Given the description of an element on the screen output the (x, y) to click on. 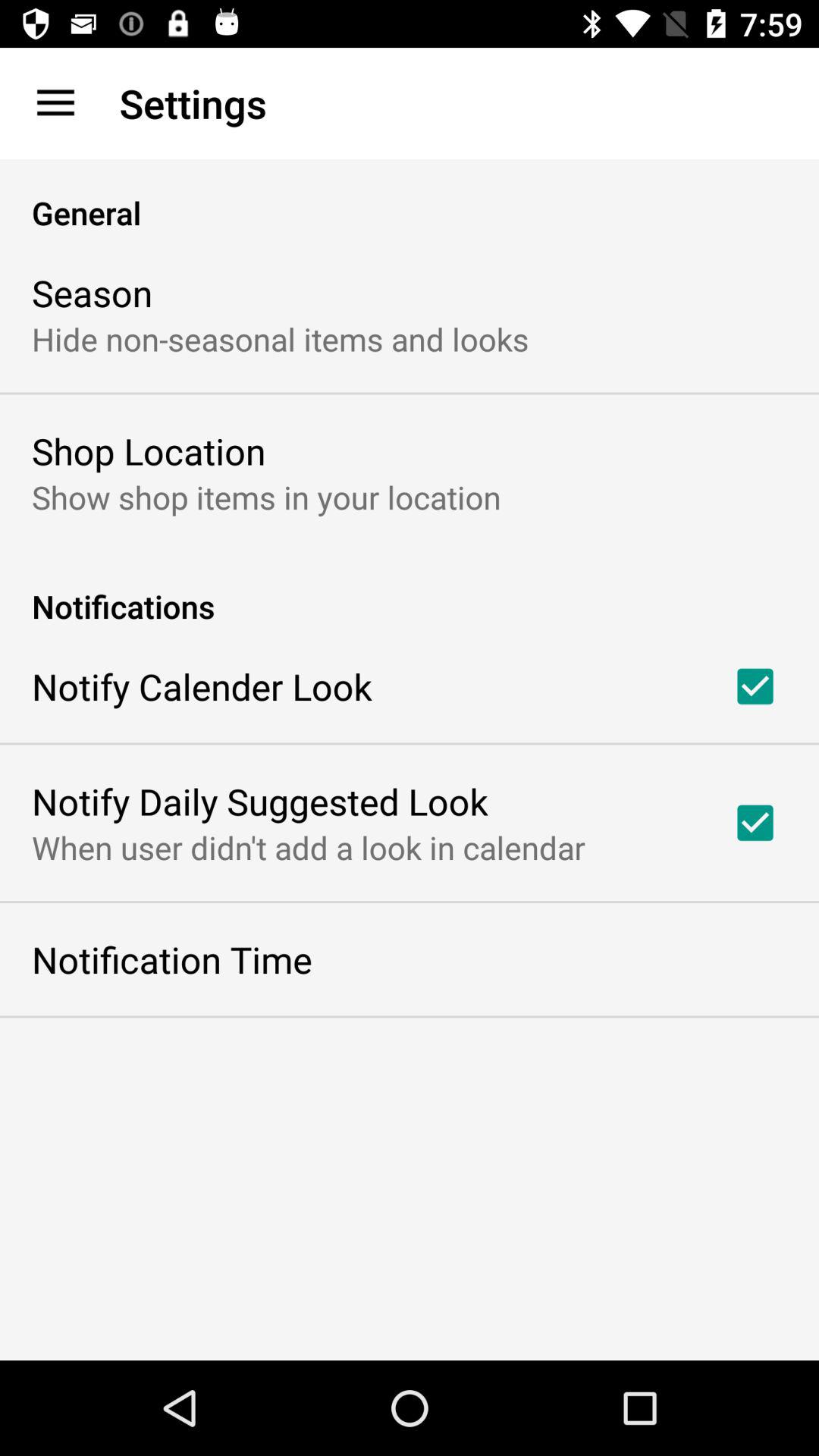
open icon below notify calender look item (259, 800)
